Given the description of an element on the screen output the (x, y) to click on. 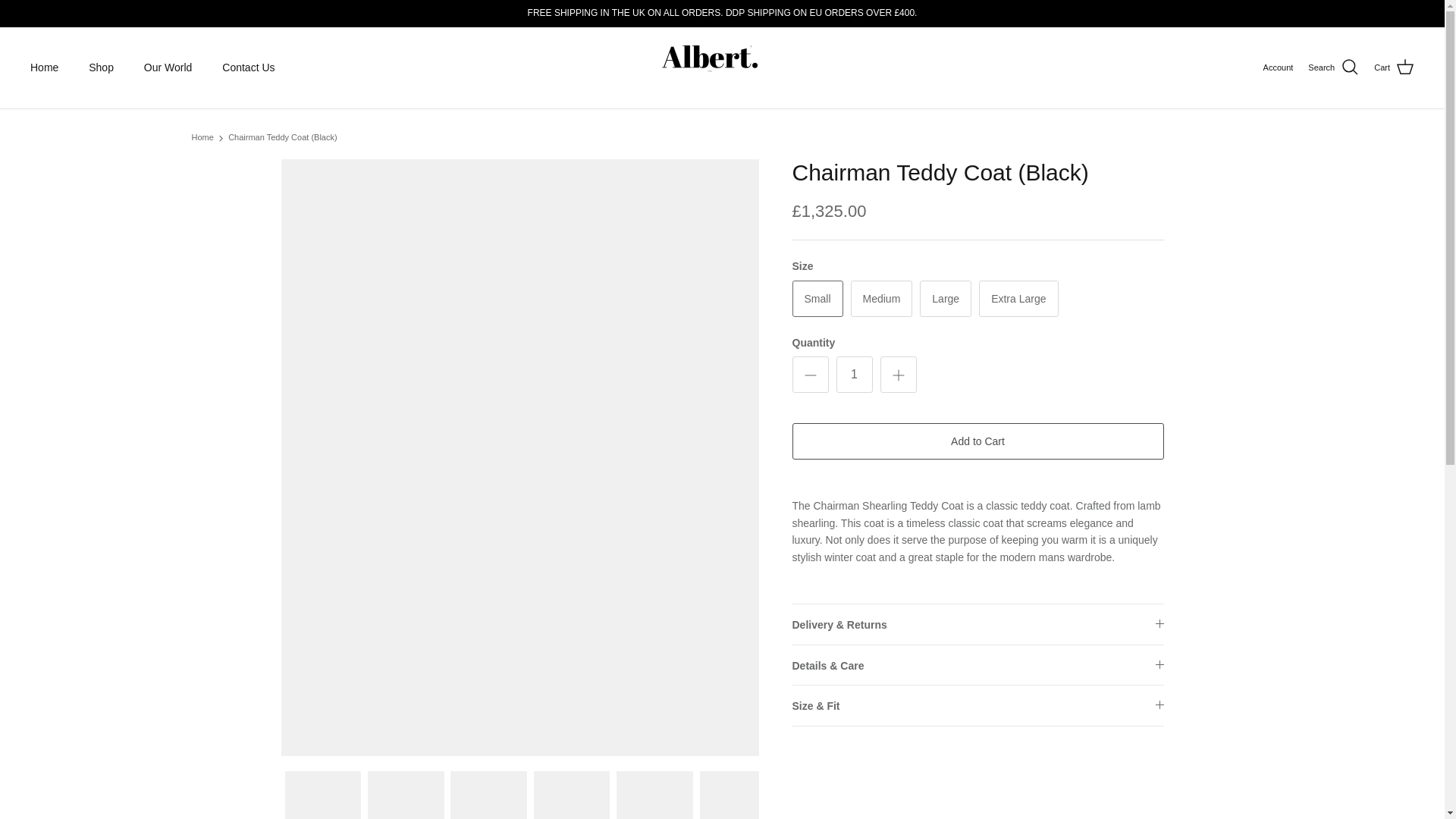
Contact Us (248, 67)
Albert Clothing (722, 67)
Shop (101, 67)
Plus (897, 375)
Our World (168, 67)
Account (1278, 68)
Search (1332, 66)
Cart (1393, 66)
1 (853, 374)
Home (43, 67)
Minus (809, 375)
